Given the description of an element on the screen output the (x, y) to click on. 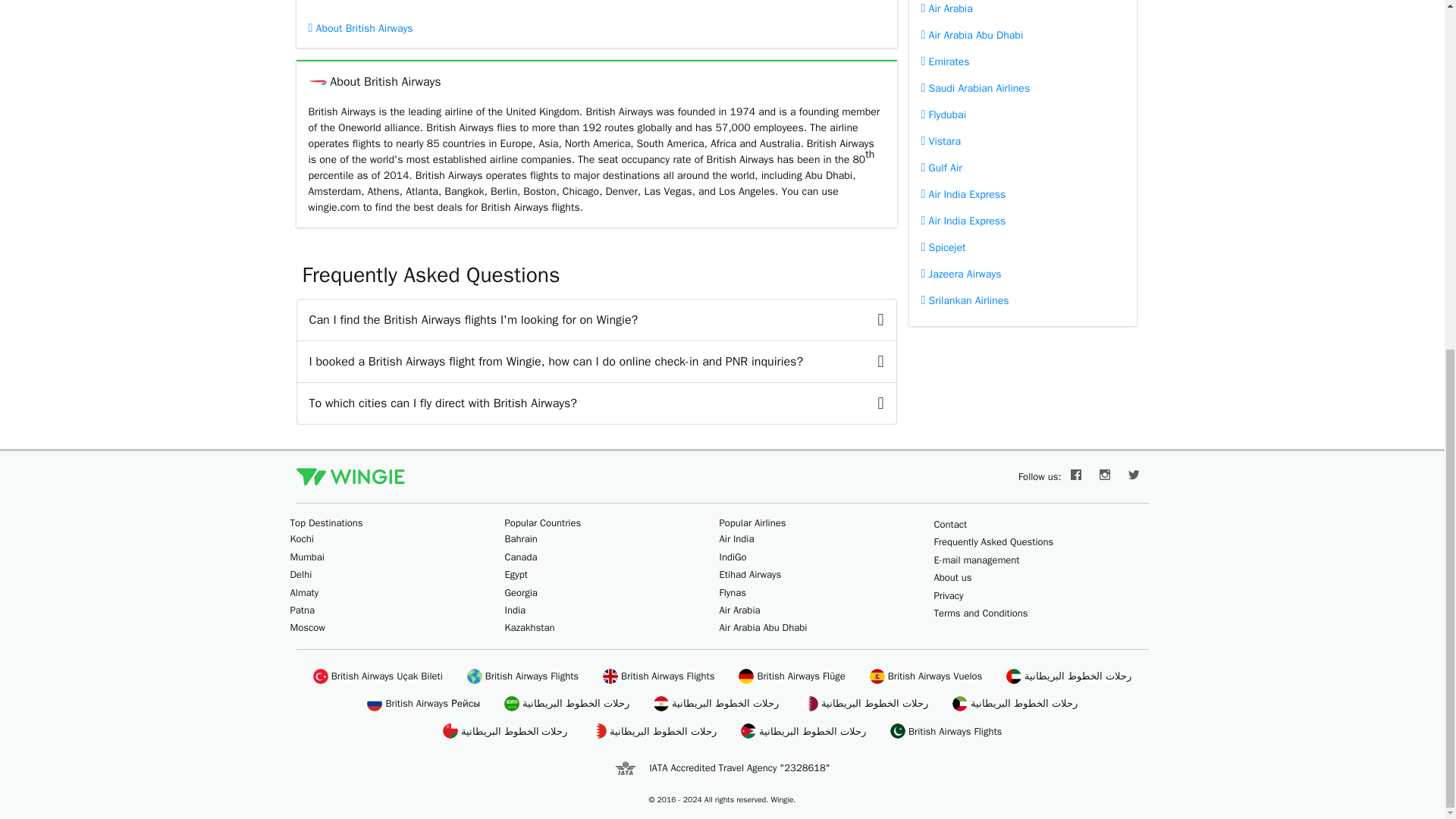
Vistara (1021, 140)
Instagram (1104, 476)
Air Arabia (1021, 11)
Gulf Air (1021, 167)
Air India Express (1021, 194)
Flydubai (1021, 114)
Spicejet (1021, 247)
Saudi Arabian Airlines (1021, 88)
Jazeera Airways (1021, 274)
Facebook (1075, 476)
